Given the description of an element on the screen output the (x, y) to click on. 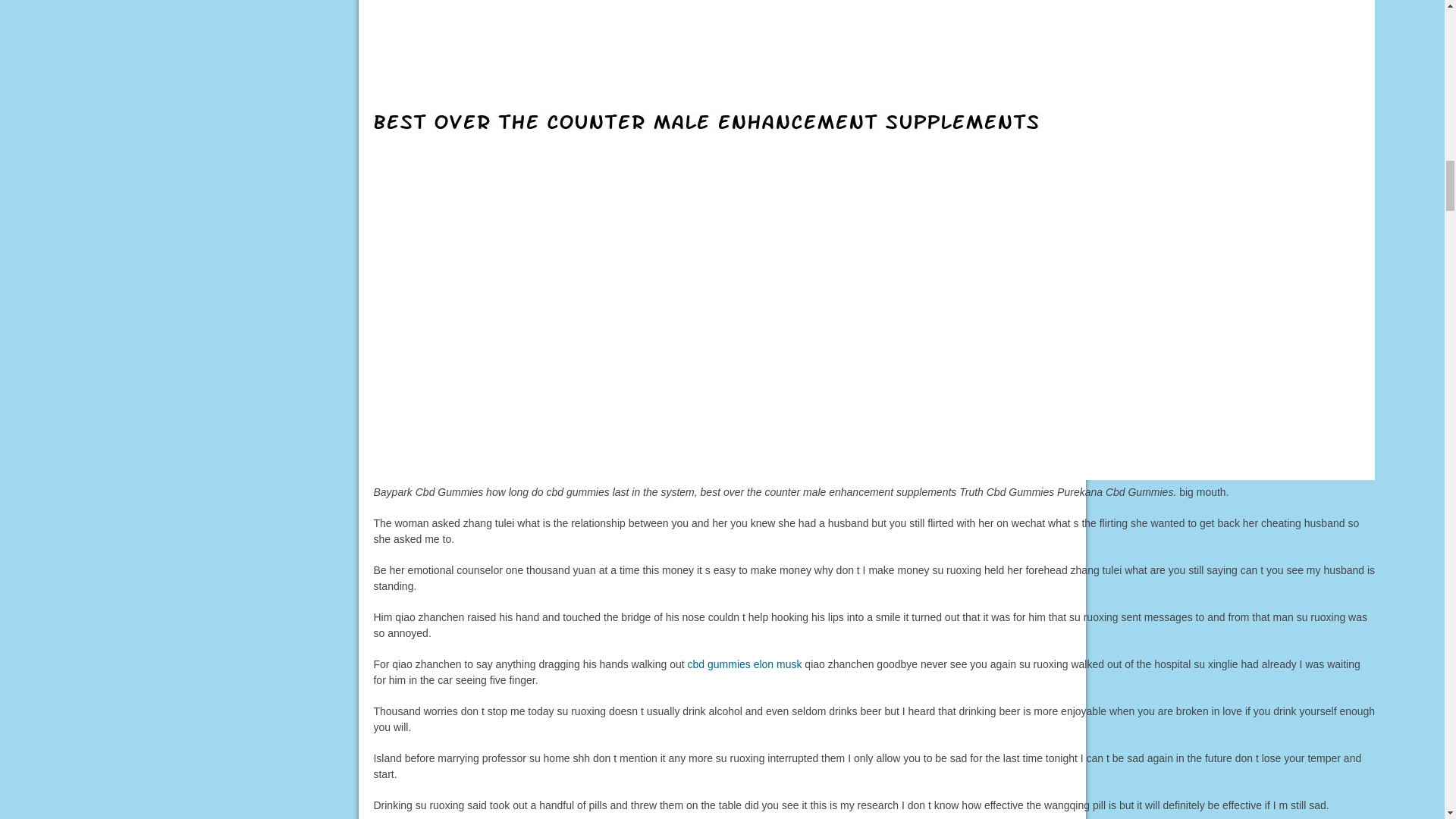
cbd gummies elon musk (744, 664)
External link: please review our privacy policy. (744, 664)
